Given the description of an element on the screen output the (x, y) to click on. 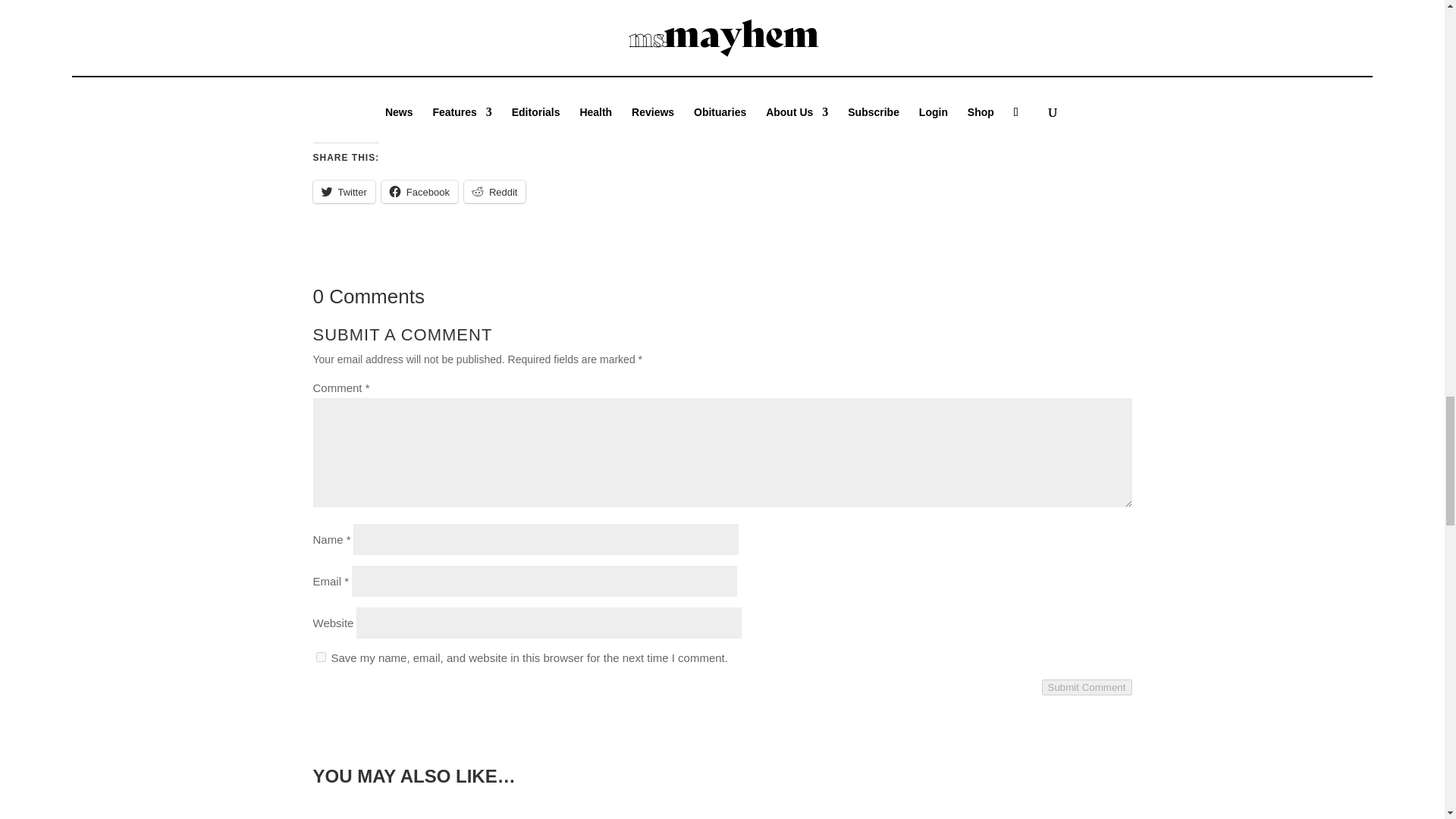
Twitter (343, 191)
Facebook (419, 191)
Click to share on Twitter (343, 191)
Reddit (494, 191)
yes (319, 656)
Click to share on Reddit (494, 191)
Click here. (496, 129)
Click to share on Facebook (419, 191)
